Given the description of an element on the screen output the (x, y) to click on. 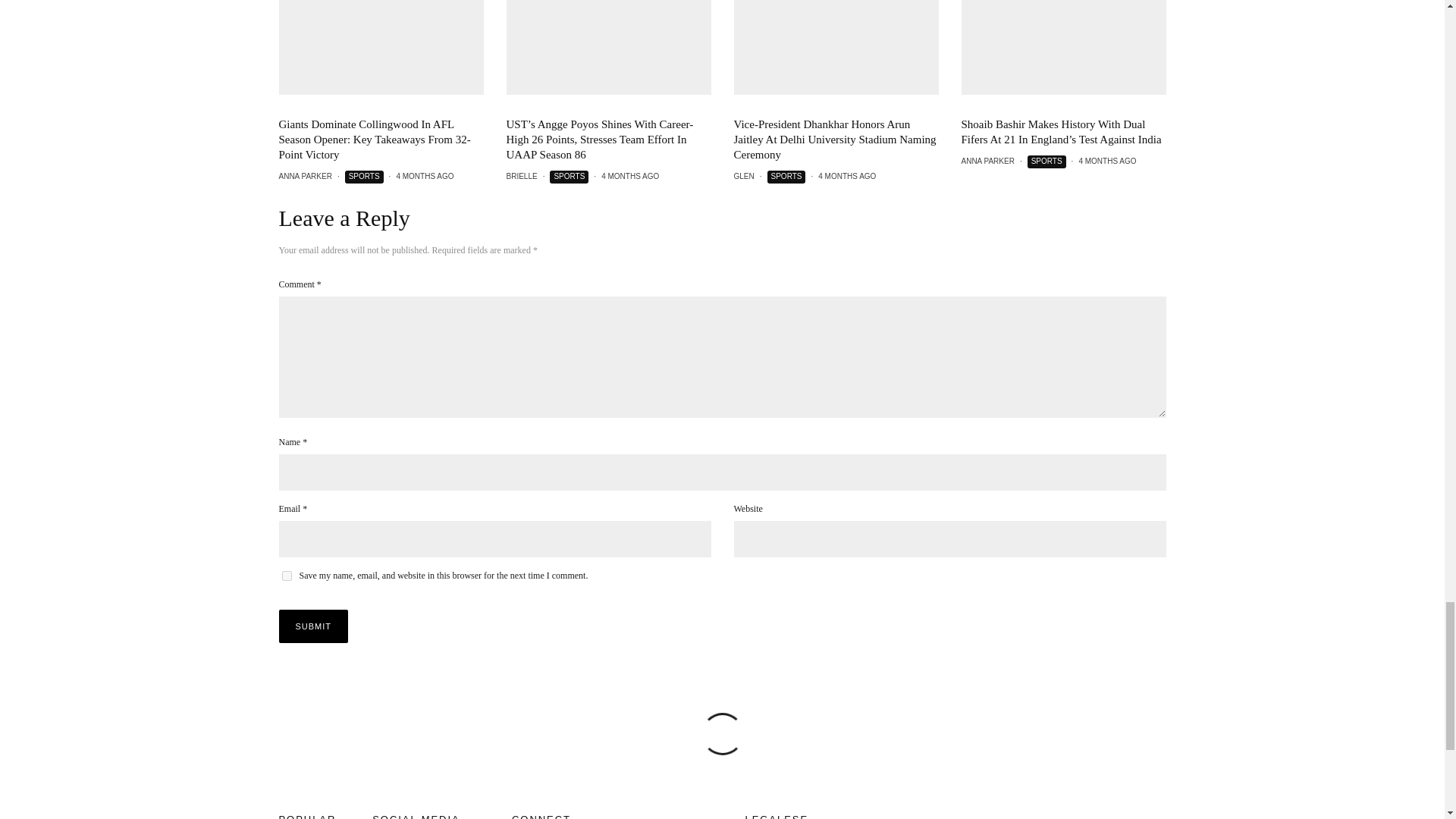
yes (287, 575)
Submit (314, 625)
